Given the description of an element on the screen output the (x, y) to click on. 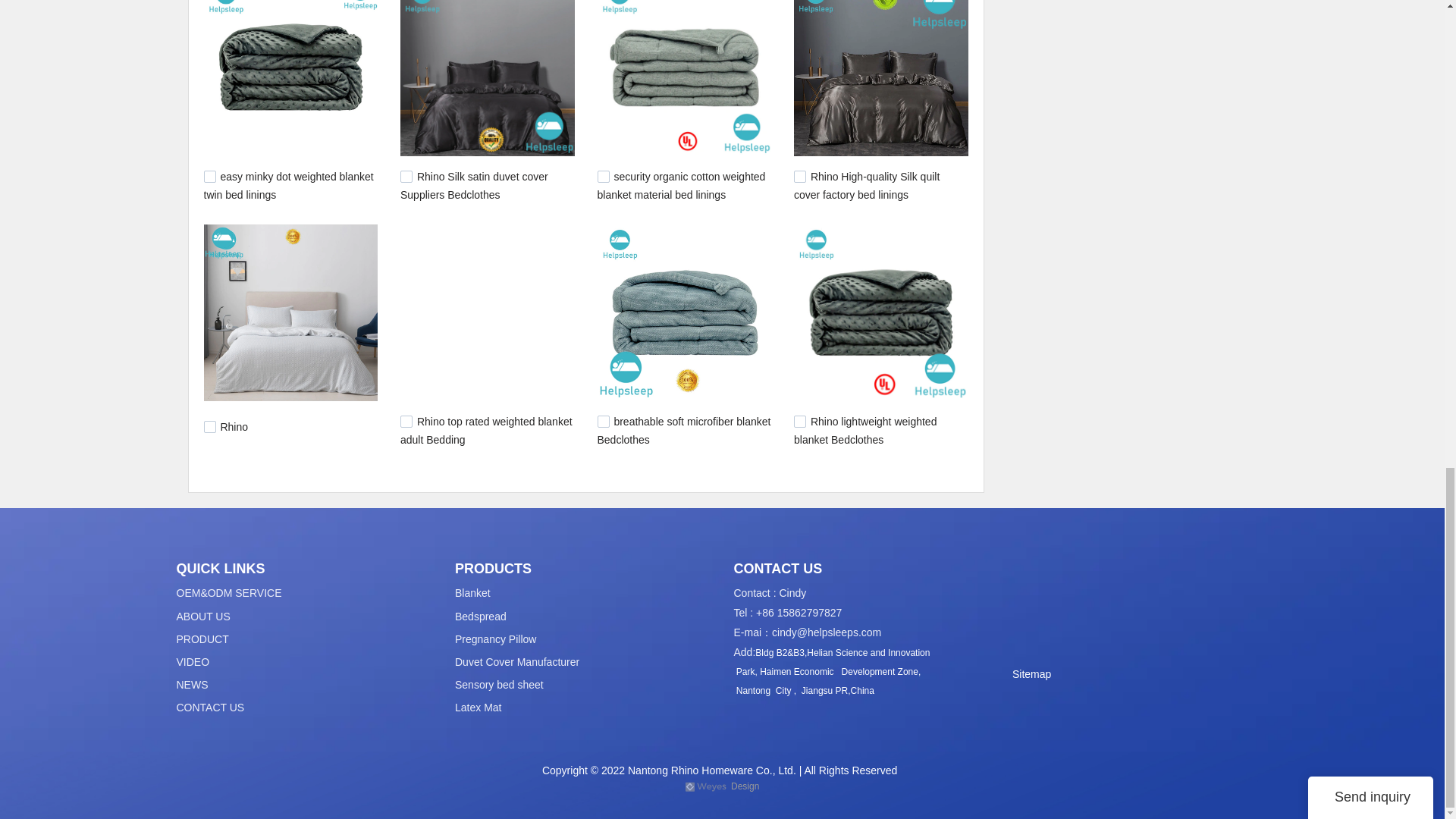
Rhino top rated weighted blanket adult Bedding (486, 430)
Rhino Silk satin duvet cover Suppliers Bedclothes (474, 185)
1158 (406, 176)
1176 (209, 176)
easy minky dot weighted blanket twin bed linings (287, 185)
629 (406, 421)
Rhino High-quality Silk quilt cover factory bed linings (866, 185)
527 (603, 421)
981 (209, 426)
